Given the description of an element on the screen output the (x, y) to click on. 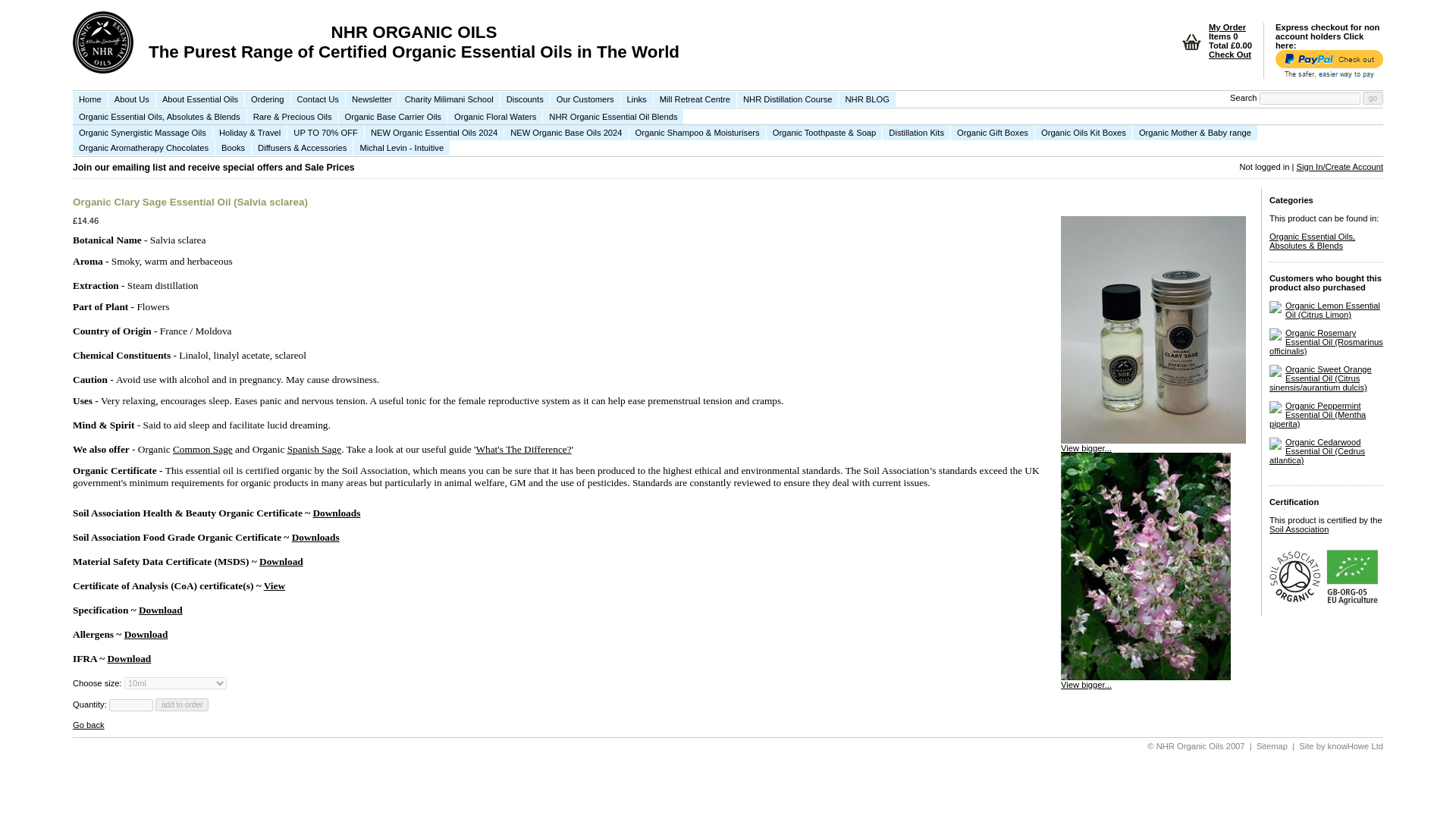
Home (89, 99)
About Us (131, 99)
Links (637, 99)
Charity Milimani School (449, 99)
go (1372, 97)
Contact Us (318, 99)
My Order (1227, 26)
Ordering (267, 99)
About Essential Oils (199, 99)
